Given the description of an element on the screen output the (x, y) to click on. 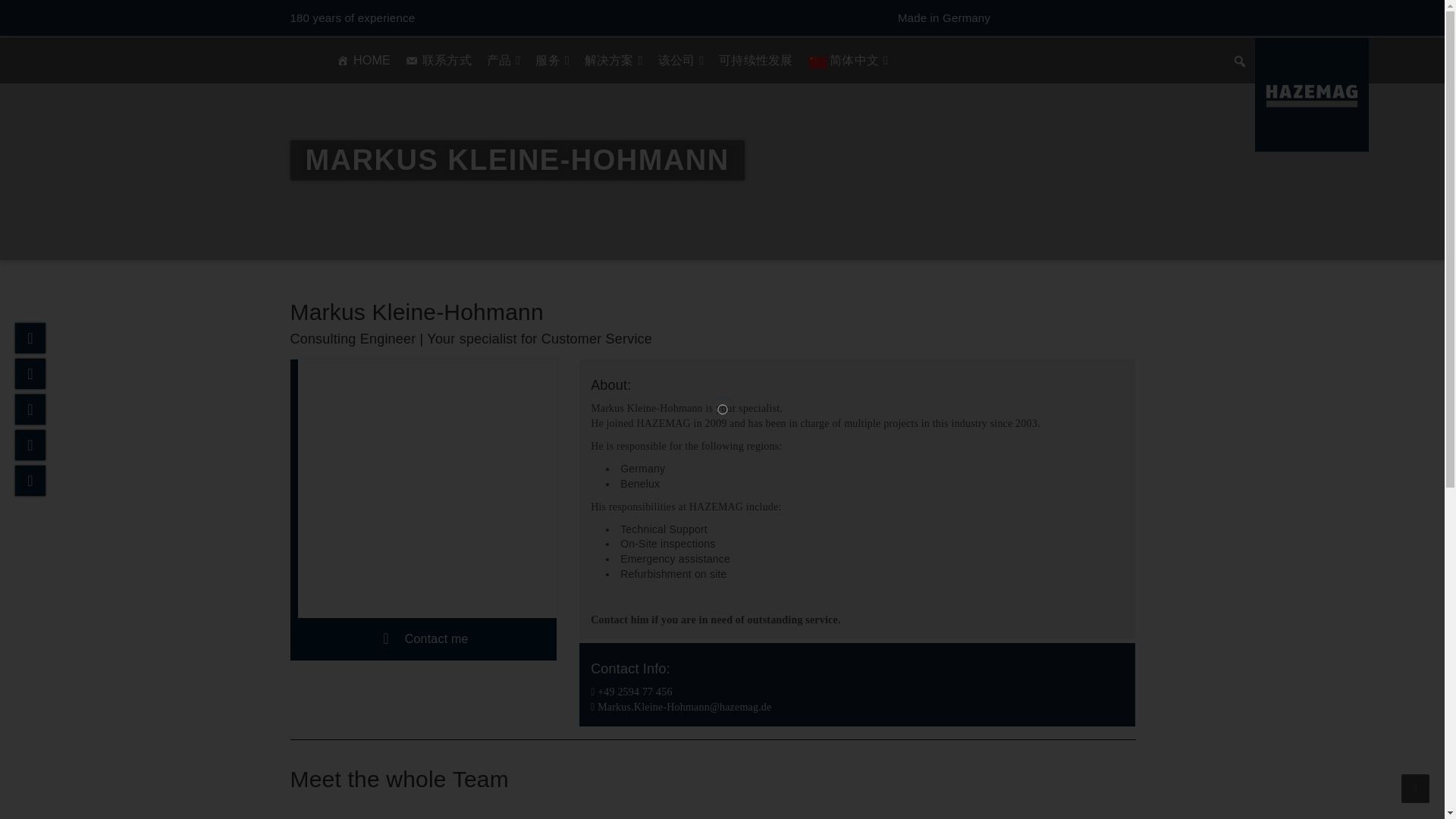
Contact Us (29, 337)
Facebook (29, 373)
Instagram (29, 444)
HOME (363, 60)
LinkedIn (29, 409)
Youtube (29, 481)
